Given the description of an element on the screen output the (x, y) to click on. 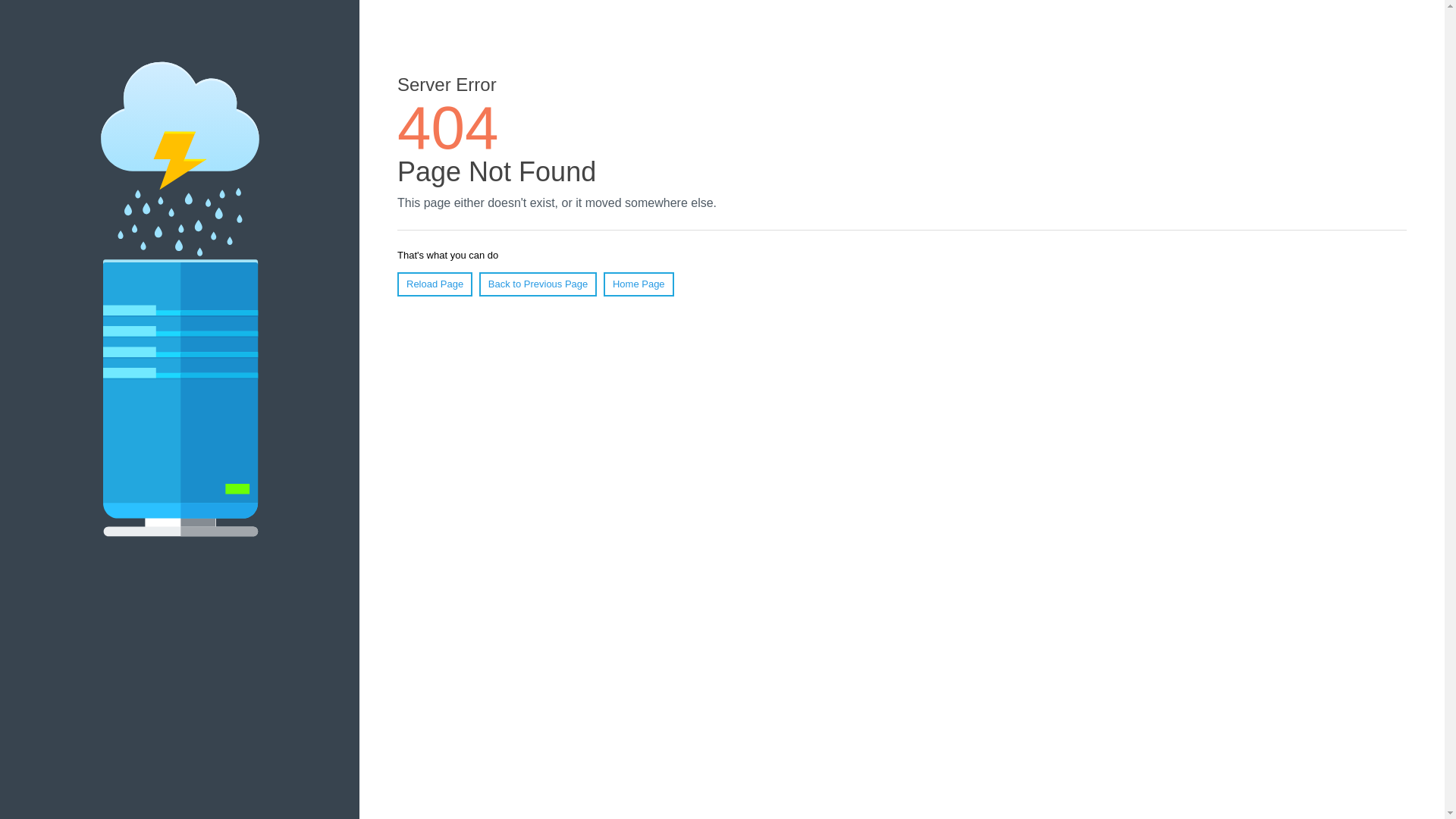
Reload Page Element type: text (434, 284)
Back to Previous Page Element type: text (538, 284)
Home Page Element type: text (638, 284)
